Given the description of an element on the screen output the (x, y) to click on. 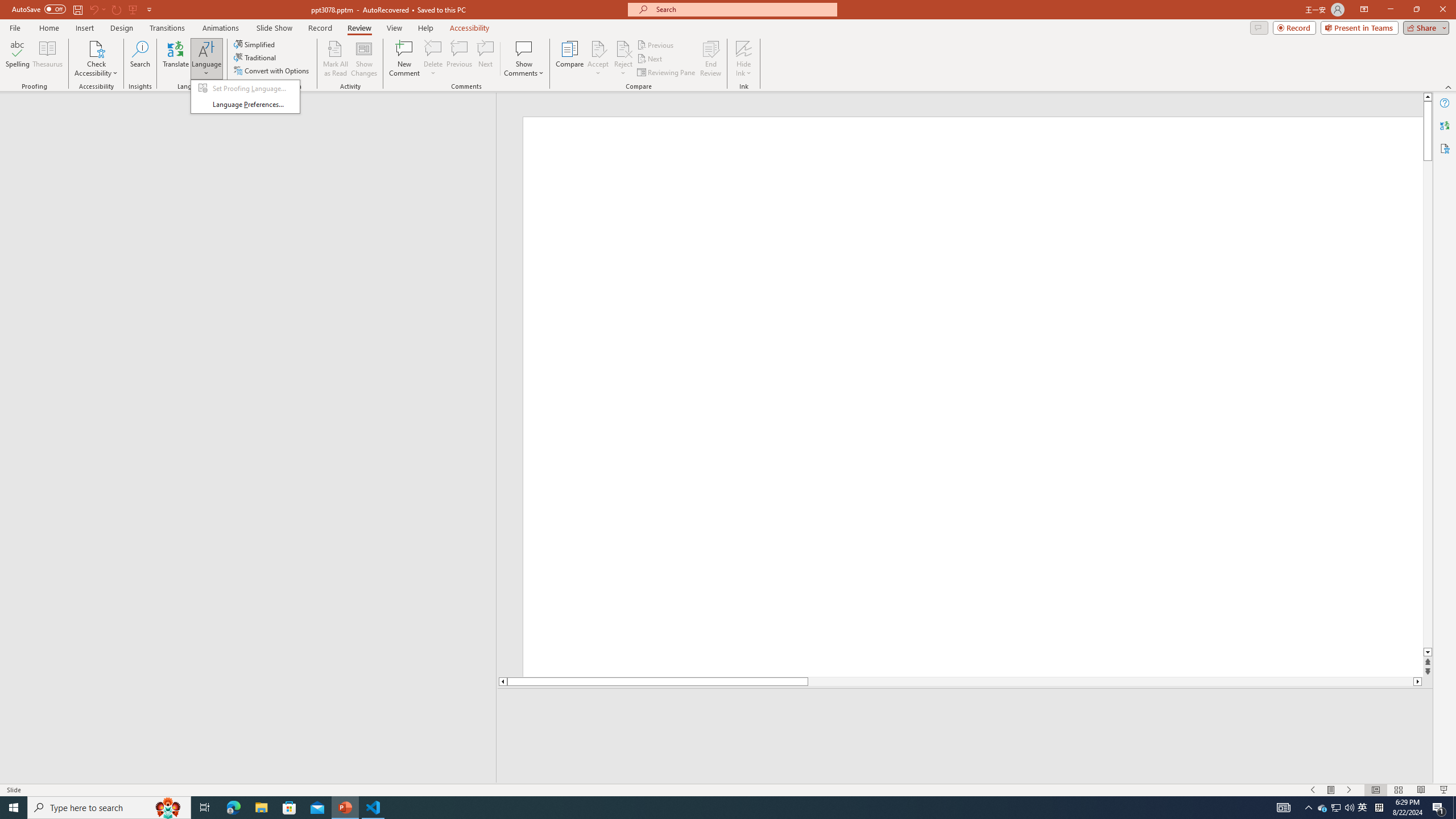
Next (649, 58)
Reject (622, 58)
Tray Input Indicator - Chinese (Simplified, China) (1378, 807)
Spelling... (17, 58)
&Language (244, 96)
Delete (432, 58)
Show Changes (363, 58)
Microsoft Edge (233, 807)
Microsoft Store (289, 807)
End Review (710, 58)
